Given the description of an element on the screen output the (x, y) to click on. 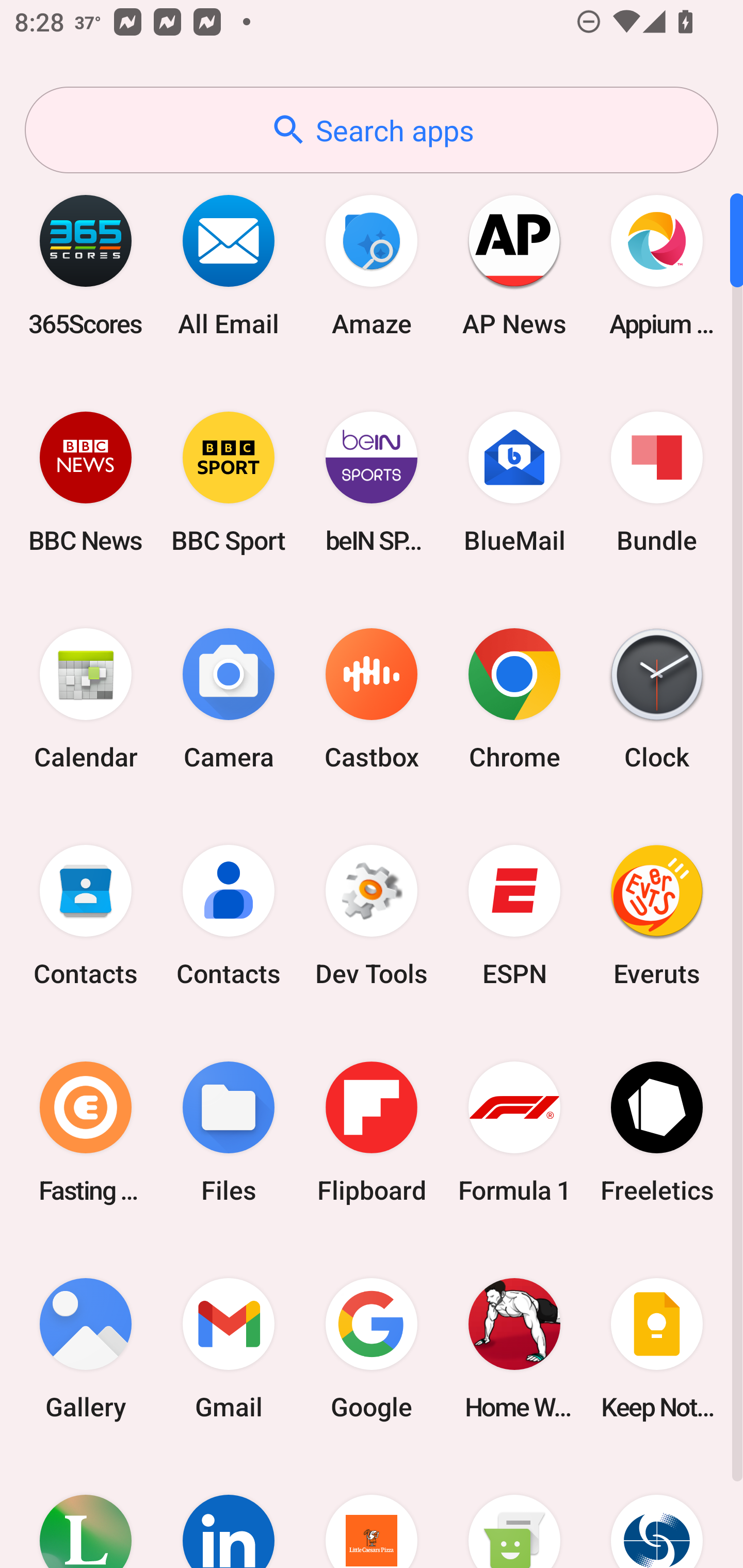
  Search apps (371, 130)
365Scores (85, 264)
All Email (228, 264)
Amaze (371, 264)
AP News (514, 264)
Appium Settings (656, 264)
BBC News (85, 482)
BBC Sport (228, 482)
beIN SPORTS (371, 482)
BlueMail (514, 482)
Bundle (656, 482)
Calendar (85, 699)
Camera (228, 699)
Castbox (371, 699)
Chrome (514, 699)
Clock (656, 699)
Contacts (85, 915)
Contacts (228, 915)
Dev Tools (371, 915)
ESPN (514, 915)
Everuts (656, 915)
Fasting Coach (85, 1131)
Files (228, 1131)
Flipboard (371, 1131)
Formula 1 (514, 1131)
Freeletics (656, 1131)
Gallery (85, 1348)
Gmail (228, 1348)
Google (371, 1348)
Home Workout (514, 1348)
Keep Notes (656, 1348)
